Given the description of an element on the screen output the (x, y) to click on. 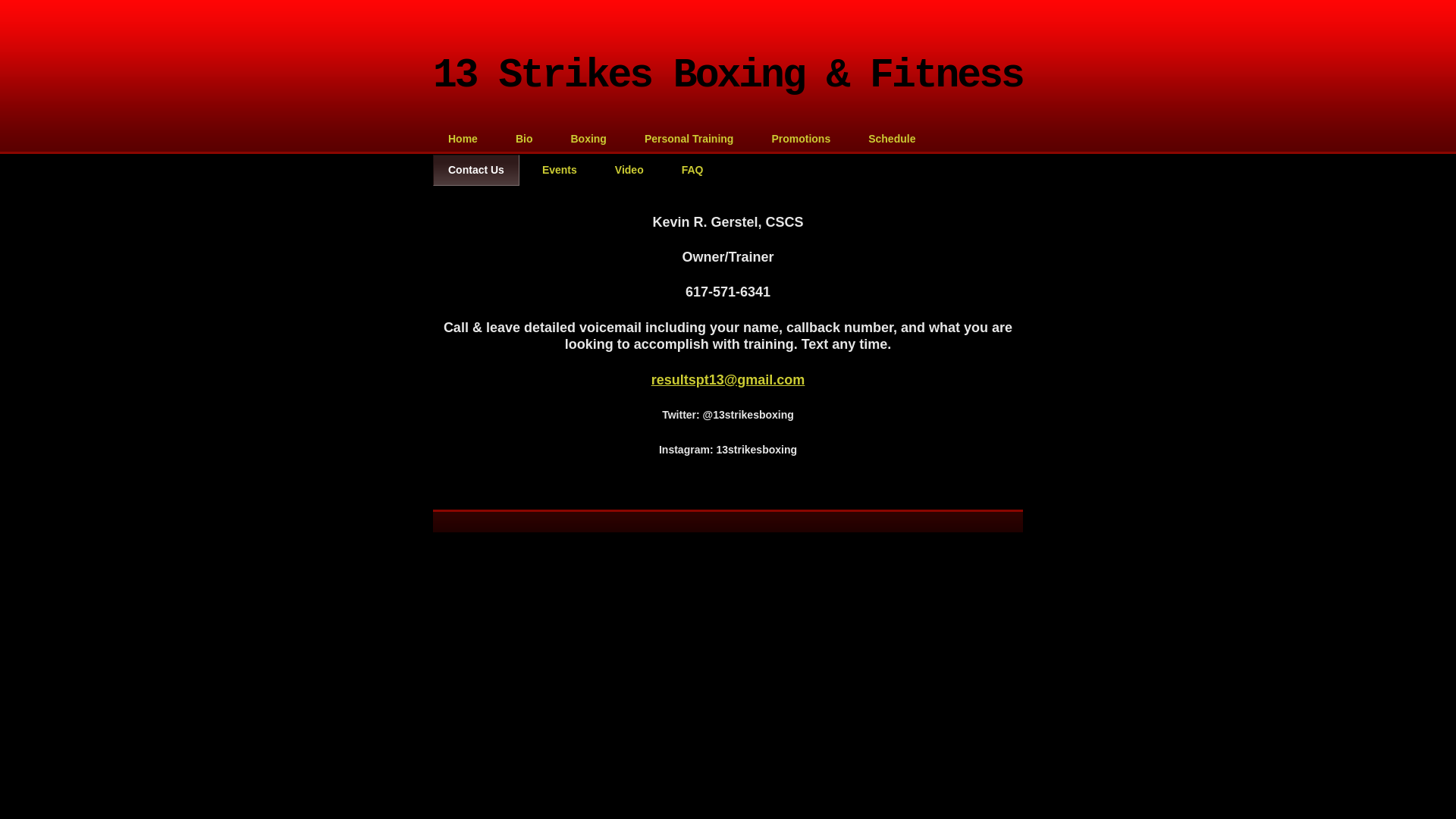
Home Element type: text (462, 138)
resultspt13@gmail.com Element type: text (728, 379)
Video Element type: text (628, 169)
Schedule Element type: text (891, 138)
Boxing Element type: text (588, 138)
13 Strikes Boxing & Fitness Element type: text (727, 75)
Events Element type: text (559, 169)
Promotions Element type: text (800, 138)
Contact Us Element type: text (476, 169)
FAQ Element type: text (692, 169)
Personal Training Element type: text (688, 138)
Bio Element type: text (524, 138)
